Given the description of an element on the screen output the (x, y) to click on. 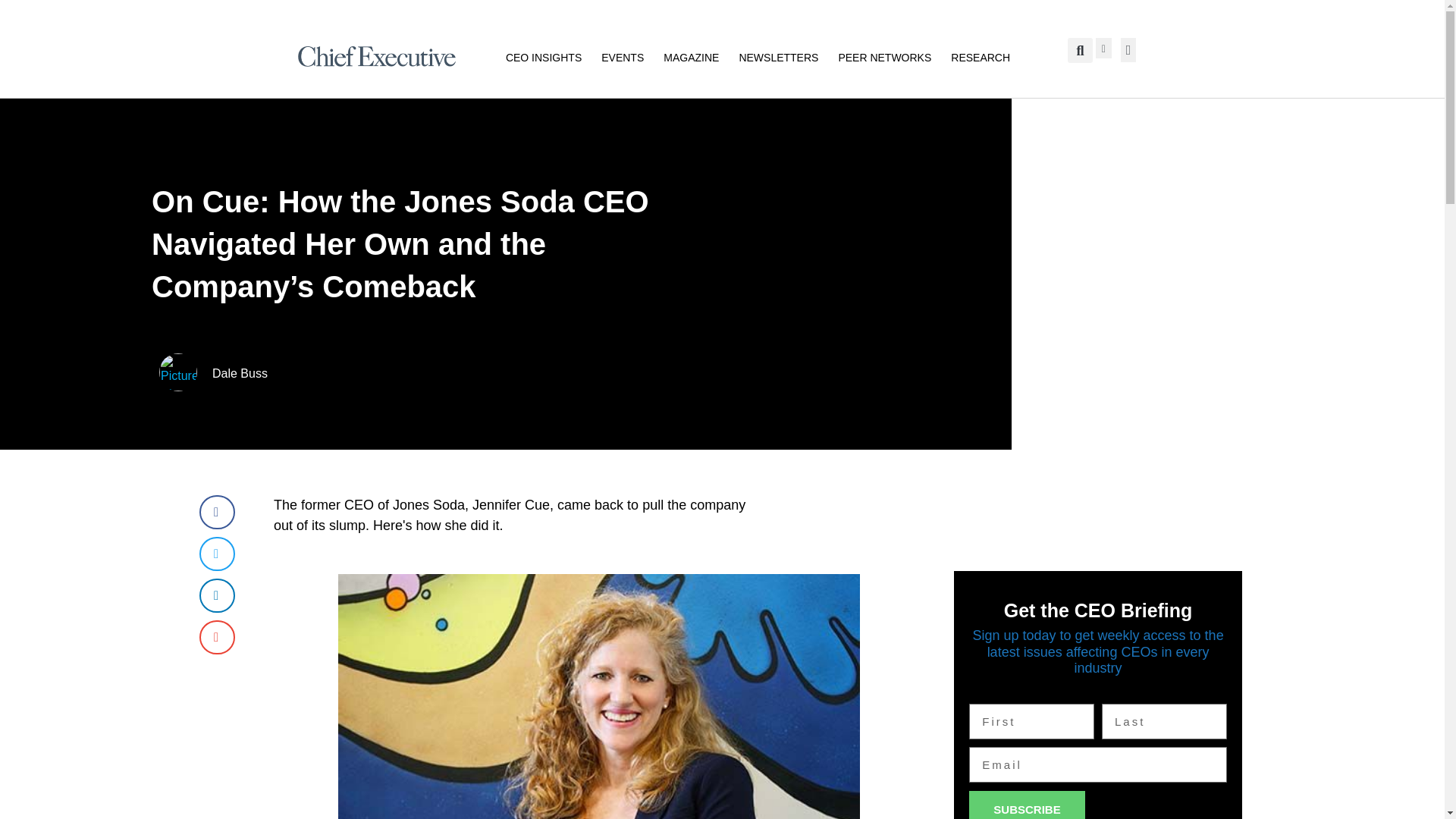
PEER NETWORKS (884, 56)
EVENTS (622, 56)
NEWSLETTERS (778, 56)
MAGAZINE (691, 56)
RESEARCH (980, 56)
CEO INSIGHTS (543, 56)
